Given the description of an element on the screen output the (x, y) to click on. 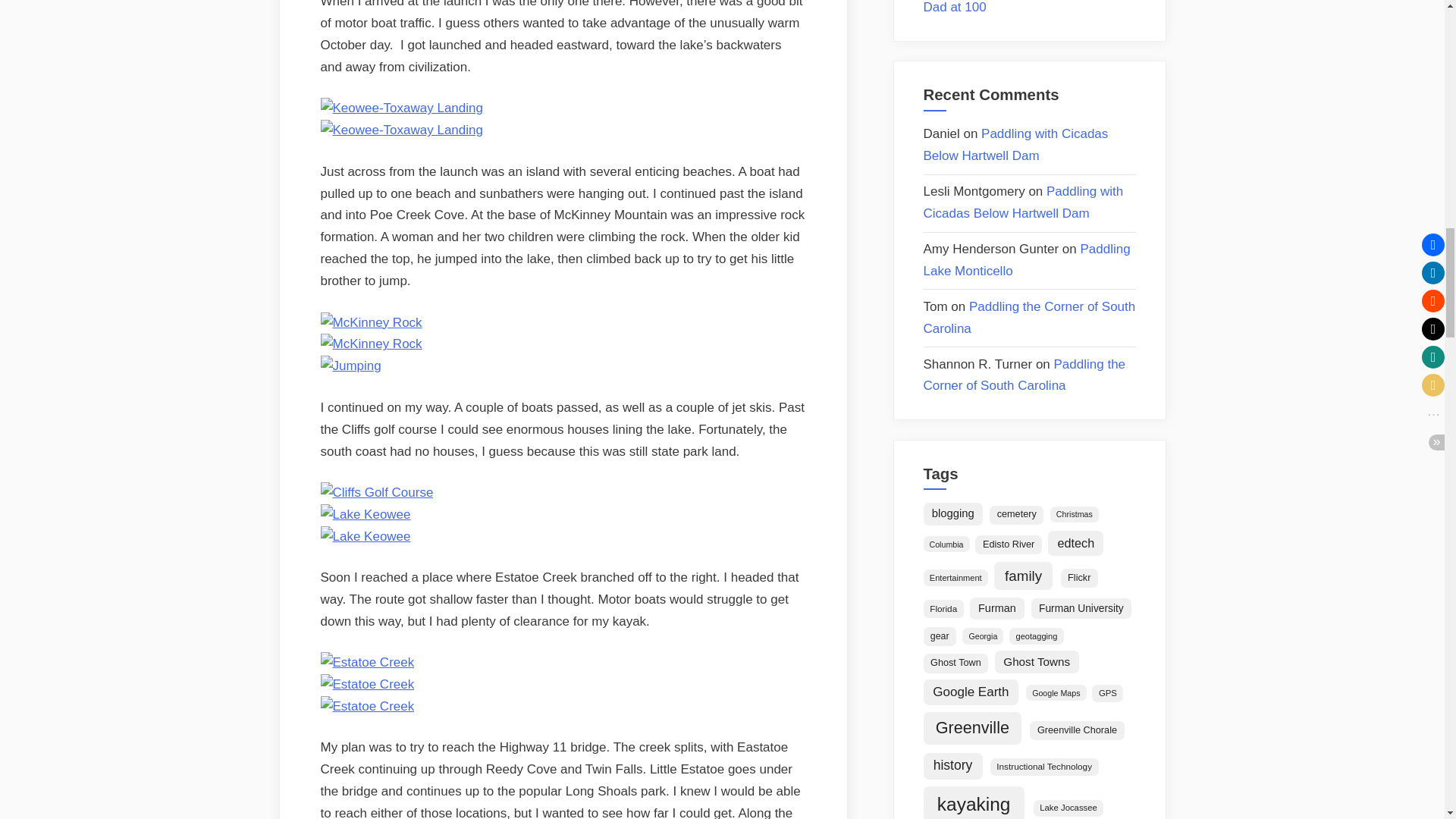
Estatoe Creek by RandomConnections, on Flickr (366, 662)
Cliffs Golf Course by RandomConnections, on Flickr (376, 492)
McKinney Rock by RandomConnections, on Flickr (371, 343)
McKinney Rock by RandomConnections, on Flickr (371, 322)
Lake Keowee by RandomConnections, on Flickr (365, 536)
Jumping by RandomConnections, on Flickr (350, 365)
Lake Keowee by RandomConnections, on Flickr (365, 513)
Keowee-Toxaway Landing by RandomConnections, on Flickr (400, 129)
Keowee-Toxaway Landing by RandomConnections, on Flickr (400, 107)
